Given the description of an element on the screen output the (x, y) to click on. 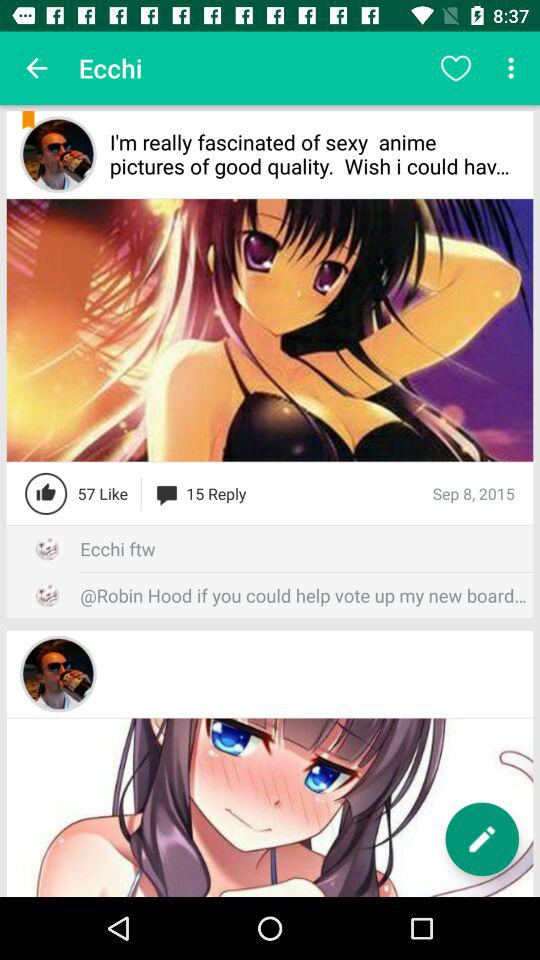
choose item to the left of the ecchi  item (36, 68)
